Given the description of an element on the screen output the (x, y) to click on. 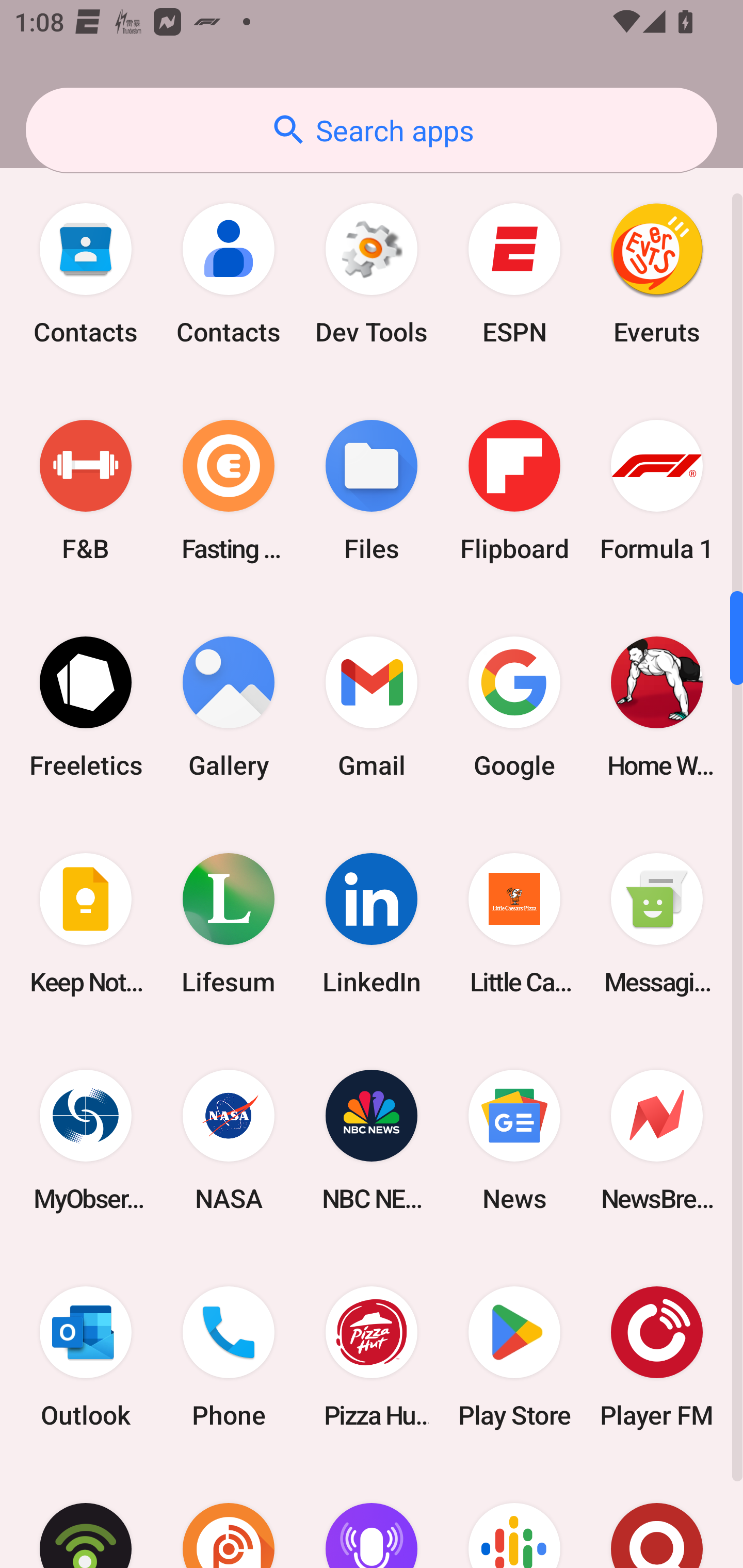
  Search apps (371, 130)
Contacts (85, 274)
Contacts (228, 274)
Dev Tools (371, 274)
ESPN (514, 274)
Everuts (656, 274)
F&B (85, 490)
Fasting Coach (228, 490)
Files (371, 490)
Flipboard (514, 490)
Formula 1 (656, 490)
Freeletics (85, 706)
Gallery (228, 706)
Gmail (371, 706)
Google (514, 706)
Home Workout (656, 706)
Keep Notes (85, 923)
Lifesum (228, 923)
LinkedIn (371, 923)
Little Caesars Pizza (514, 923)
Messaging (656, 923)
MyObservatory (85, 1139)
NASA (228, 1139)
NBC NEWS (371, 1139)
News (514, 1139)
NewsBreak (656, 1139)
Outlook (85, 1357)
Phone (228, 1357)
Pizza Hut HK & Macau (371, 1357)
Play Store (514, 1357)
Player FM (656, 1357)
Podbean (85, 1517)
Podcast Addict (228, 1517)
Podcast Player (371, 1517)
Podcasts (514, 1517)
Quora (656, 1517)
